Given the description of an element on the screen output the (x, y) to click on. 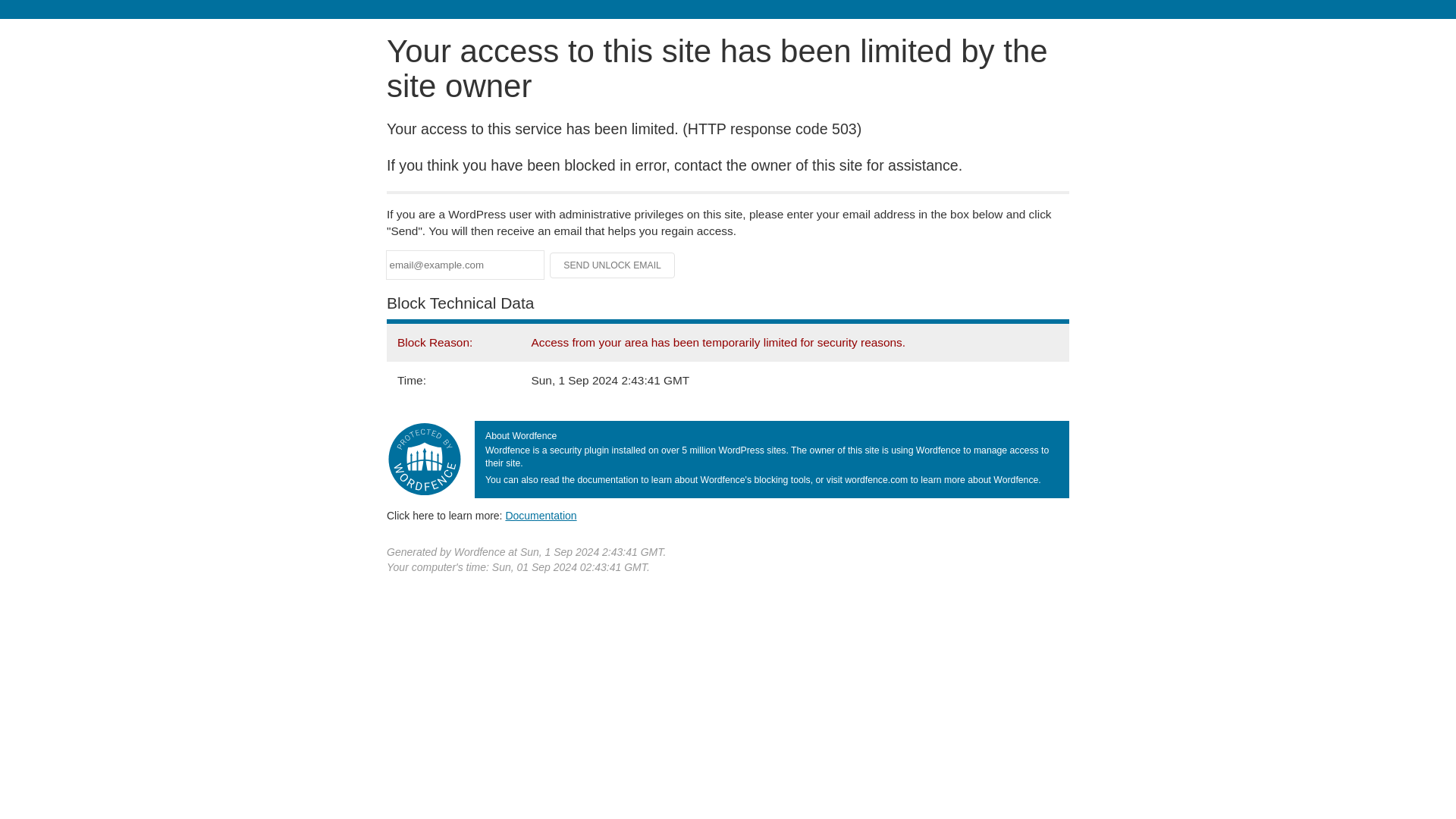
Send Unlock Email (612, 265)
Documentation (540, 515)
Send Unlock Email (612, 265)
